Given the description of an element on the screen output the (x, y) to click on. 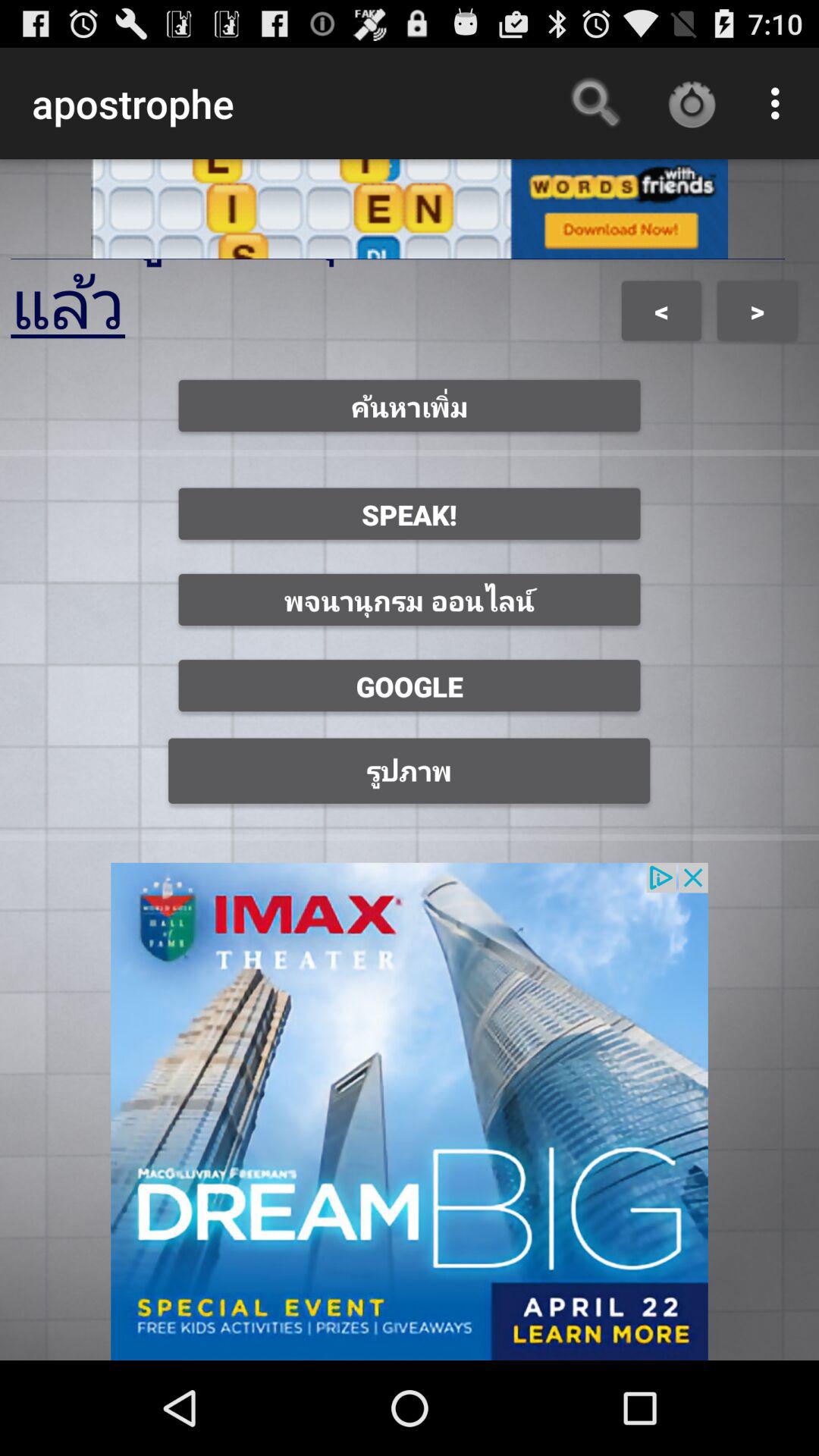
click on the option below speak (409, 599)
select a icon which is before more option (691, 103)
click on caret arrow which is towards left side (661, 310)
click on the first icon on the top right of the page (595, 103)
go to last option (409, 770)
go to first option (409, 406)
